Given the description of an element on the screen output the (x, y) to click on. 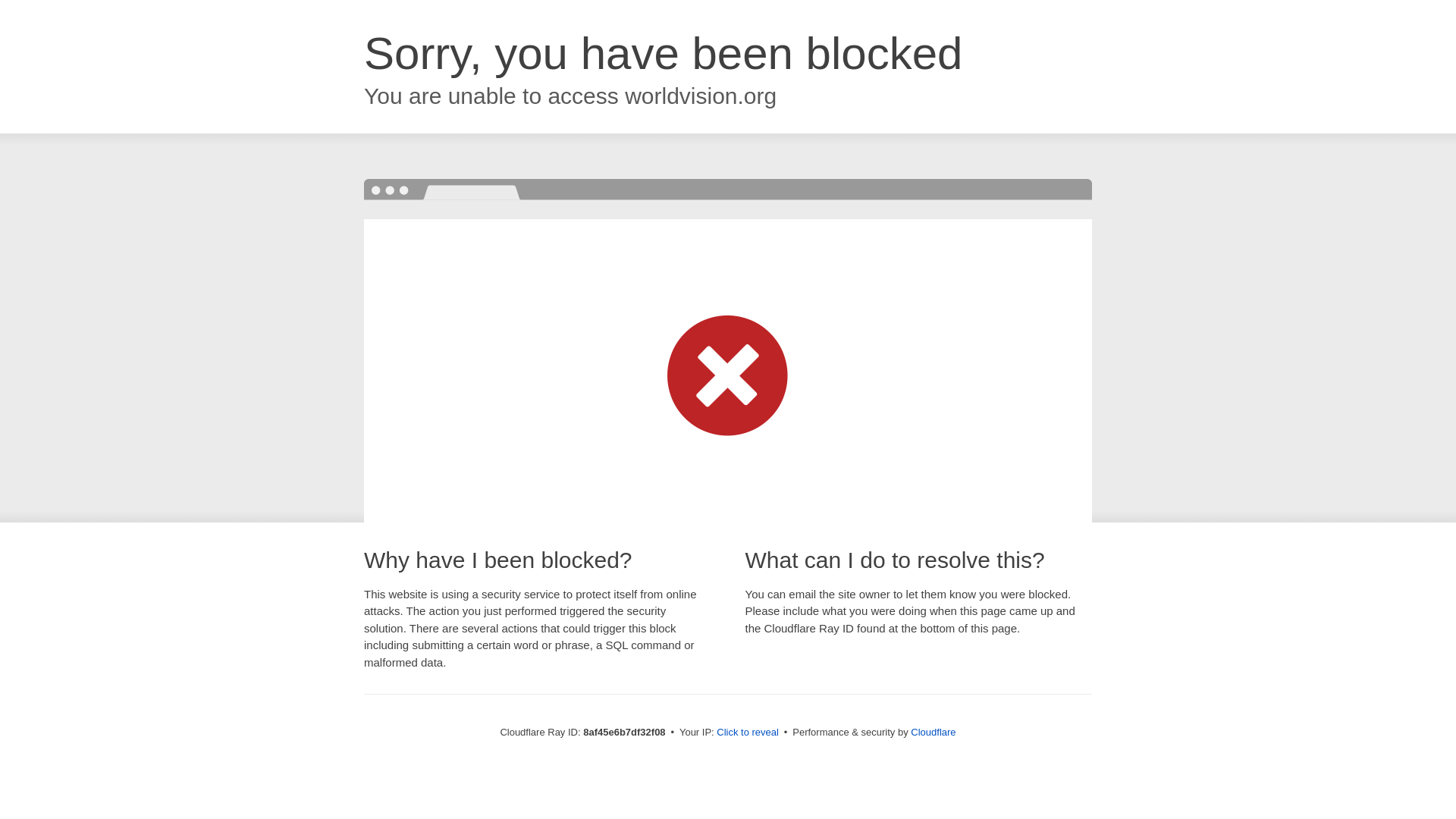
Click to reveal (747, 732)
Cloudflare (933, 731)
